Given the description of an element on the screen output the (x, y) to click on. 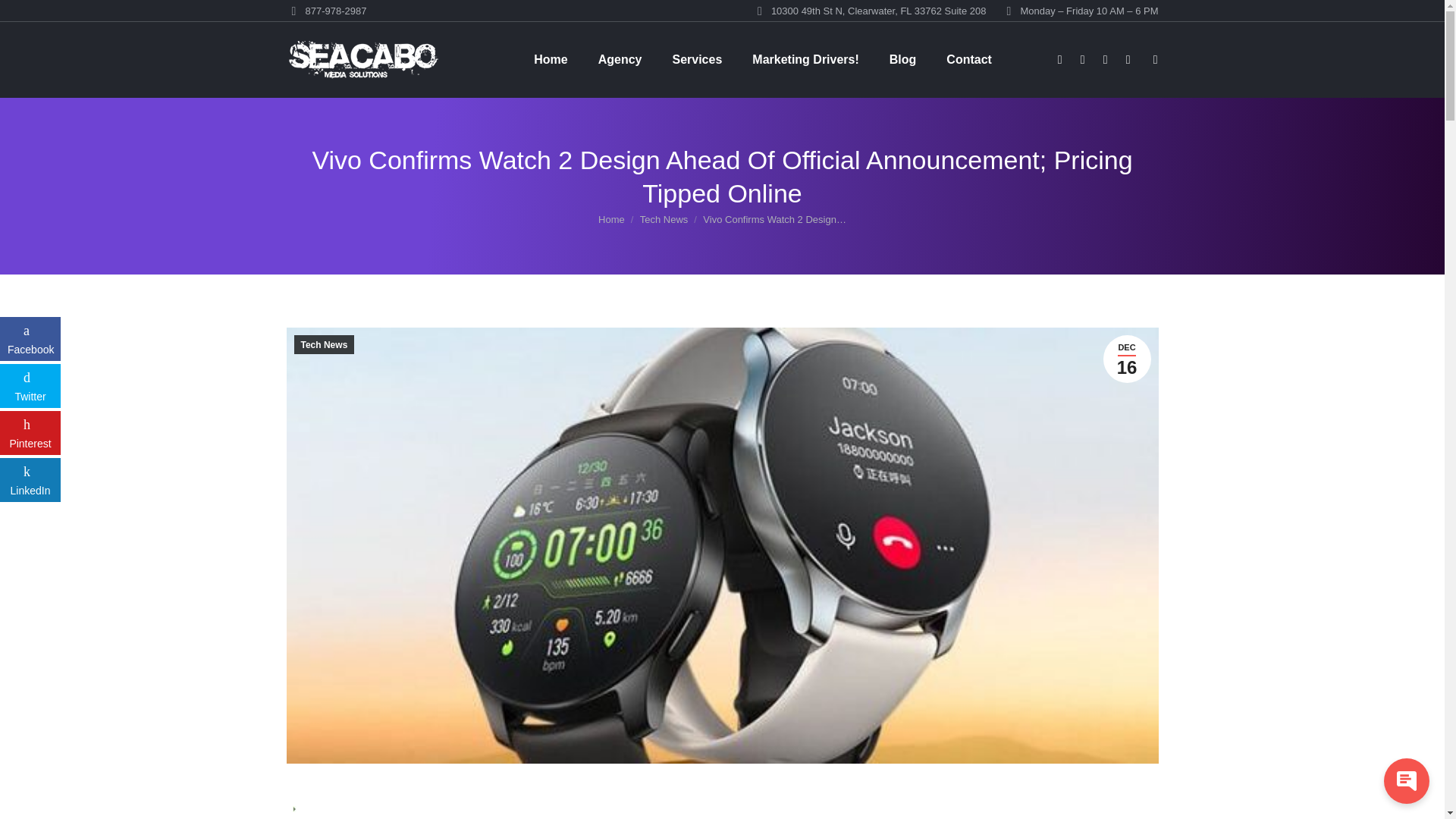
Marketing Drivers! (805, 59)
Home (550, 59)
Contact (968, 59)
Twitter page opens in new window (1083, 59)
Agency (620, 59)
Instagram page opens in new window (1105, 59)
Facebook page opens in new window (1059, 59)
Instagram page opens in new window (1105, 59)
Services (696, 59)
Facebook page opens in new window (1059, 59)
Linkedin page opens in new window (1128, 59)
Blog (903, 59)
Twitter page opens in new window (1083, 59)
Linkedin page opens in new window (1128, 59)
877-978-2987 (326, 11)
